Given the description of an element on the screen output the (x, y) to click on. 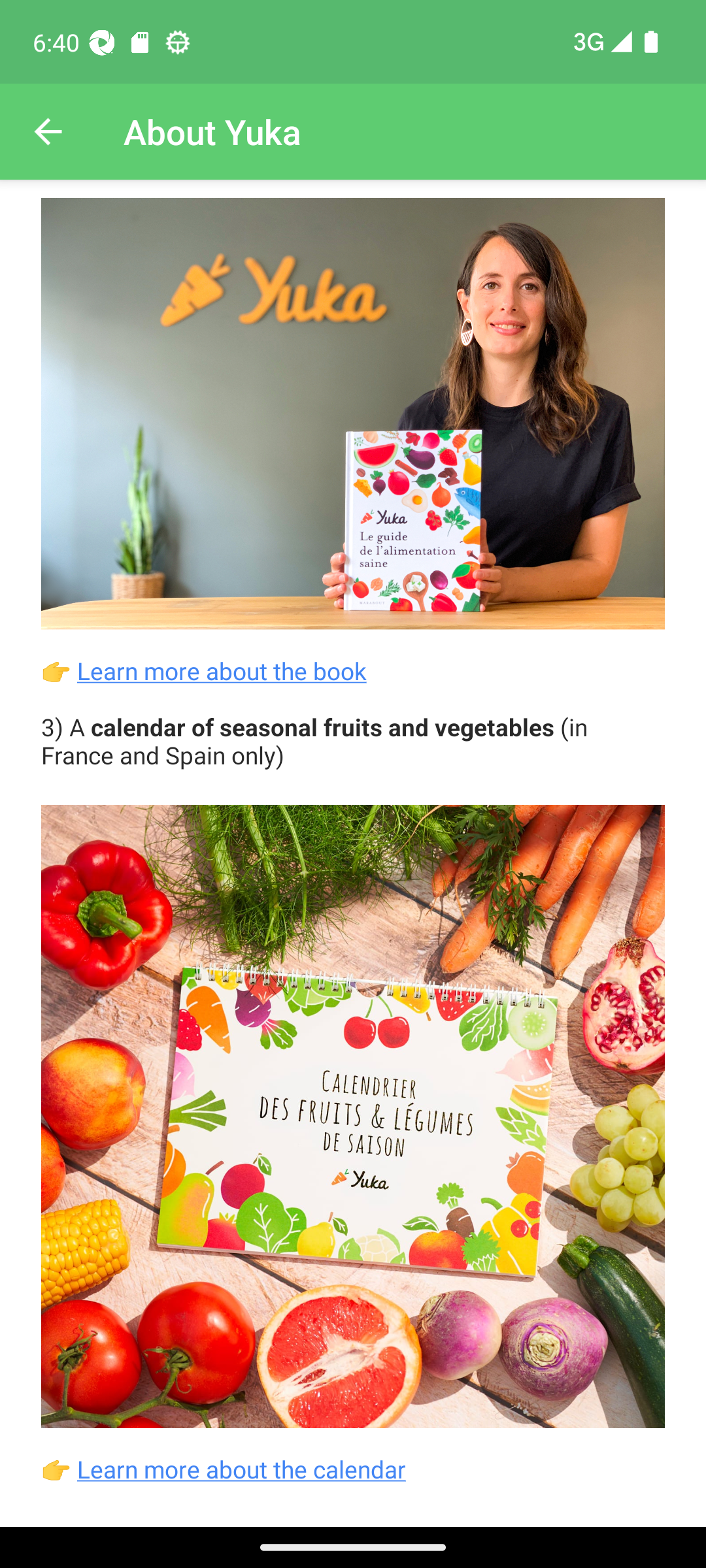
Navigate up (48, 131)
